Given the description of an element on the screen output the (x, y) to click on. 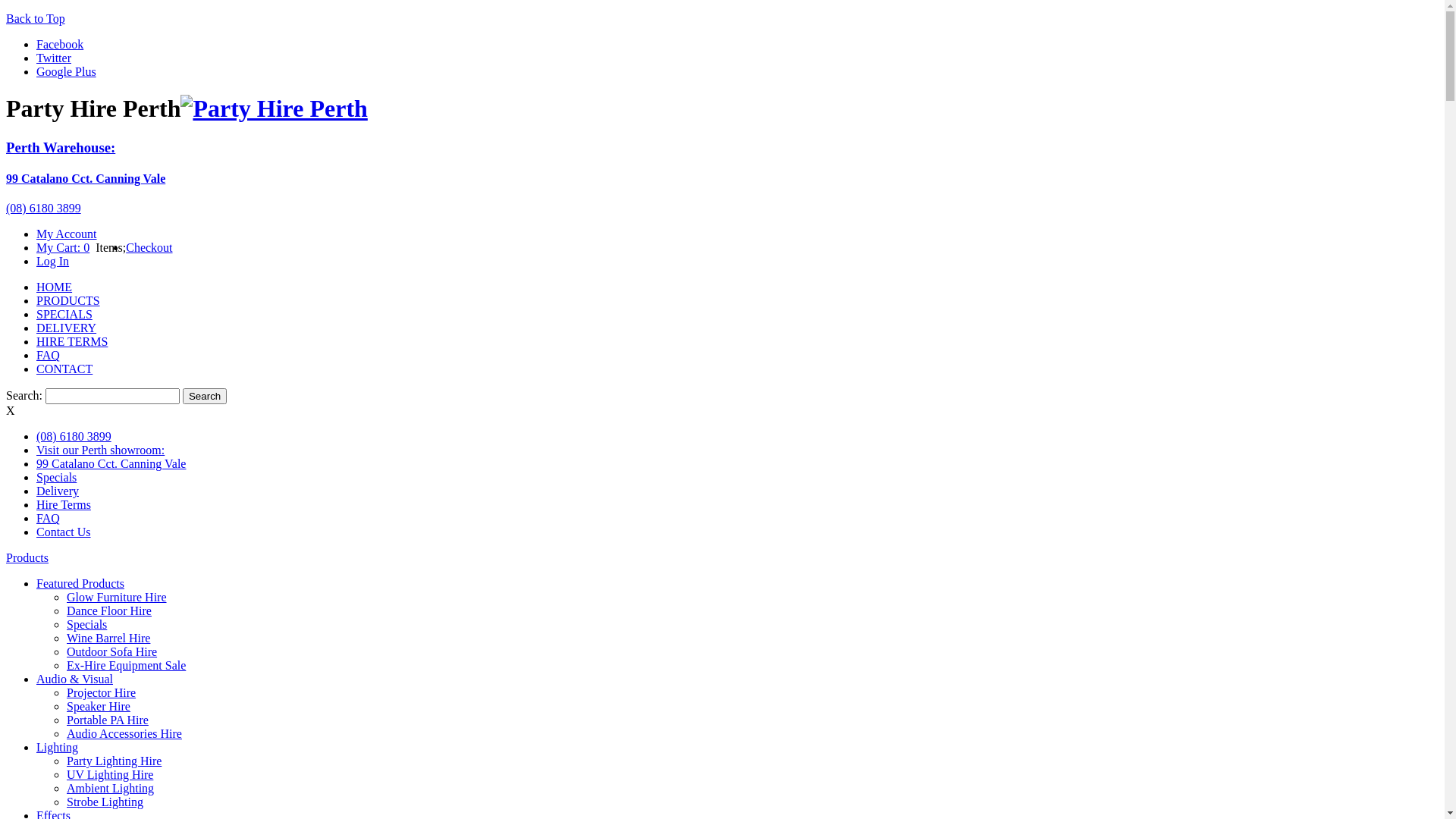
Wine Barrel Hire Element type: text (108, 637)
My Account Element type: text (66, 233)
Back to Top Element type: text (35, 18)
Perth Warehouse:
99 Catalano Cct. Canning Vale Element type: text (722, 162)
UV Lighting Hire Element type: text (109, 774)
Ambient Lighting Element type: text (109, 787)
Dance Floor Hire Element type: text (108, 610)
FAQ Element type: text (47, 517)
DELIVERY Element type: text (66, 327)
(08) 6180 3899 Element type: text (43, 207)
My Cart: 0 Element type: text (62, 247)
Lighting Element type: text (57, 746)
SPECIALS Element type: text (64, 313)
Twitter Element type: text (53, 57)
Party Hire Perth Element type: hover (273, 108)
Checkout Element type: text (148, 247)
99 Catalano Cct. Canning Vale Element type: text (110, 463)
Audio Accessories Hire Element type: text (124, 733)
(08) 6180 3899 Element type: text (73, 435)
Party Lighting Hire Element type: text (113, 760)
Contact Us Element type: text (63, 531)
Log In Element type: text (52, 260)
Delivery Element type: text (57, 490)
Ex-Hire Equipment Sale Element type: text (125, 664)
HIRE TERMS Element type: text (71, 341)
Specials Element type: text (56, 476)
Google Plus Element type: text (66, 71)
Visit our Perth showroom: Element type: text (100, 449)
PRODUCTS Element type: text (68, 300)
CONTACT Element type: text (64, 368)
Featured Products Element type: text (80, 583)
Outdoor Sofa Hire Element type: text (111, 651)
Portable PA Hire Element type: text (107, 719)
HOME Element type: text (54, 286)
Facebook Element type: text (59, 43)
Hire Terms Element type: text (63, 504)
FAQ Element type: text (47, 354)
Strobe Lighting Element type: text (104, 801)
Specials Element type: text (86, 624)
Search Element type: text (204, 396)
Glow Furniture Hire Element type: text (116, 596)
Products Element type: text (27, 557)
Speaker Hire Element type: text (98, 705)
Audio & Visual Element type: text (74, 678)
Projector Hire Element type: text (100, 692)
